Given the description of an element on the screen output the (x, y) to click on. 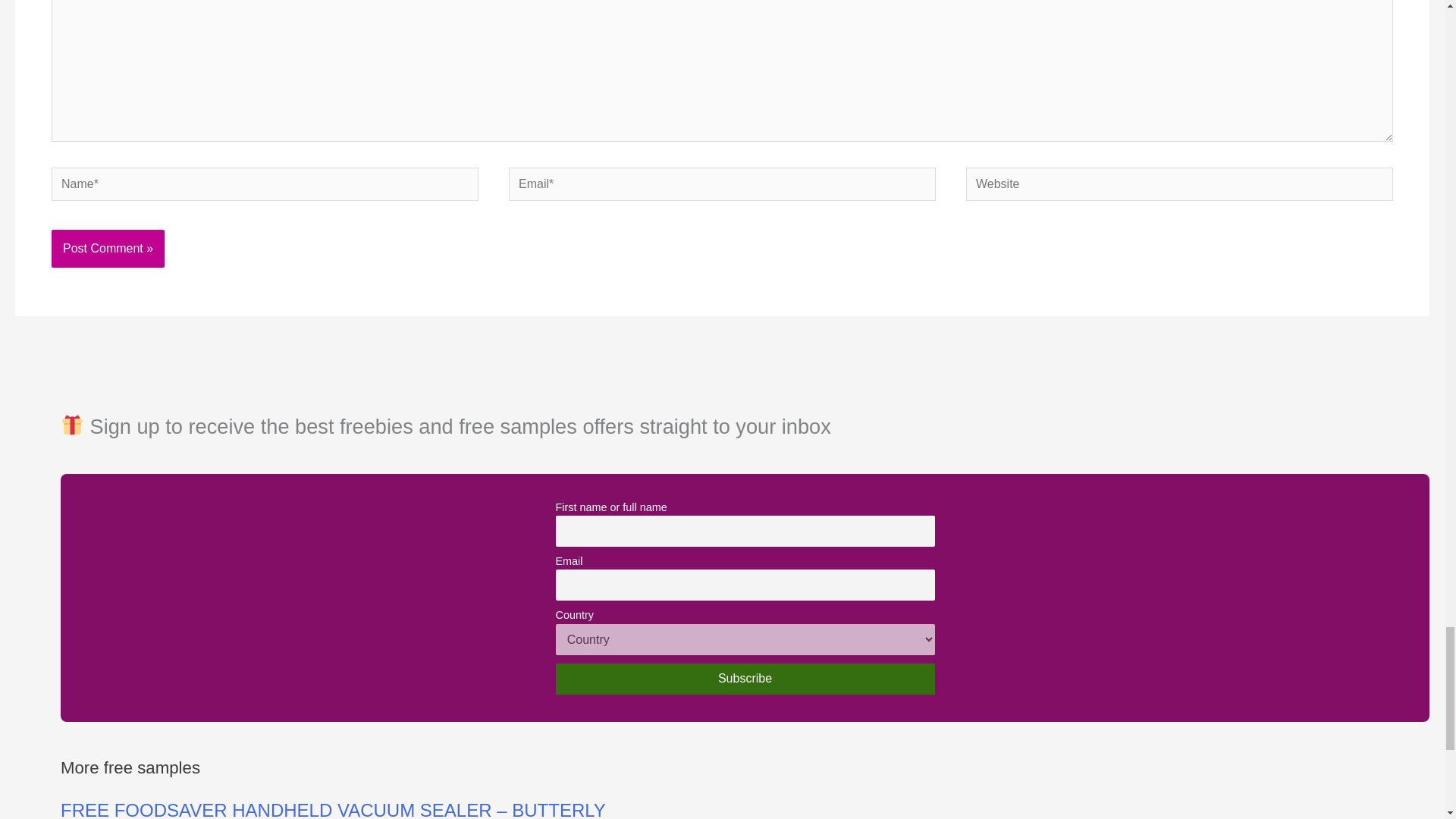
Subscribe (744, 678)
